Given the description of an element on the screen output the (x, y) to click on. 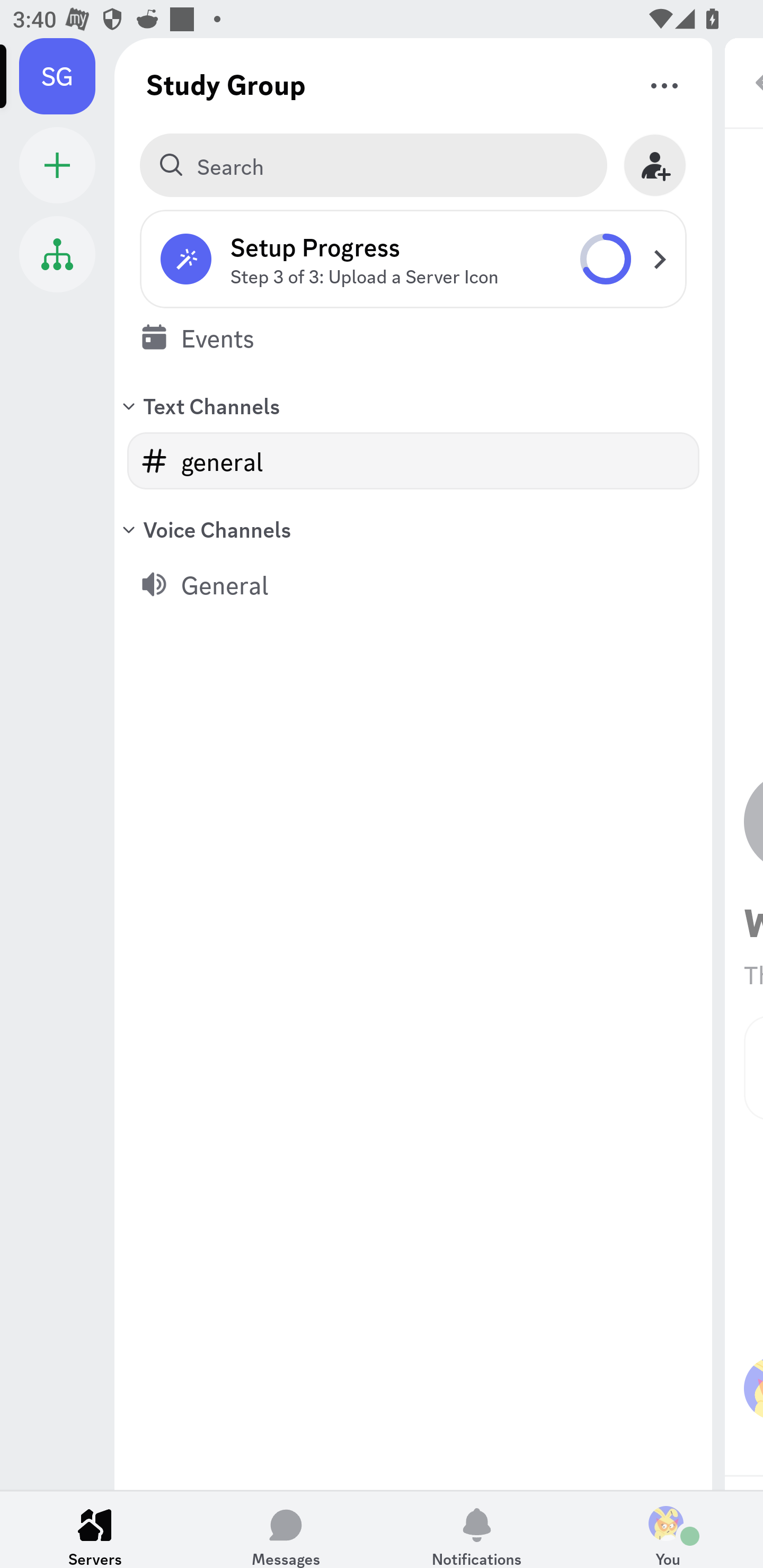
  Study Group SG (66, 75)
Study Group (226, 83)
Add a Server (57, 165)
Search (373, 165)
Invite (654, 165)
Student Hub (57, 253)
Events (413, 336)
Text Channels (412, 404)
general (text channel) general (413, 460)
Voice Channels (412, 528)
General (voice channel), 0 users General (413, 584)
Servers (95, 1529)
Messages (285, 1529)
Notifications (476, 1529)
You (667, 1529)
